Given the description of an element on the screen output the (x, y) to click on. 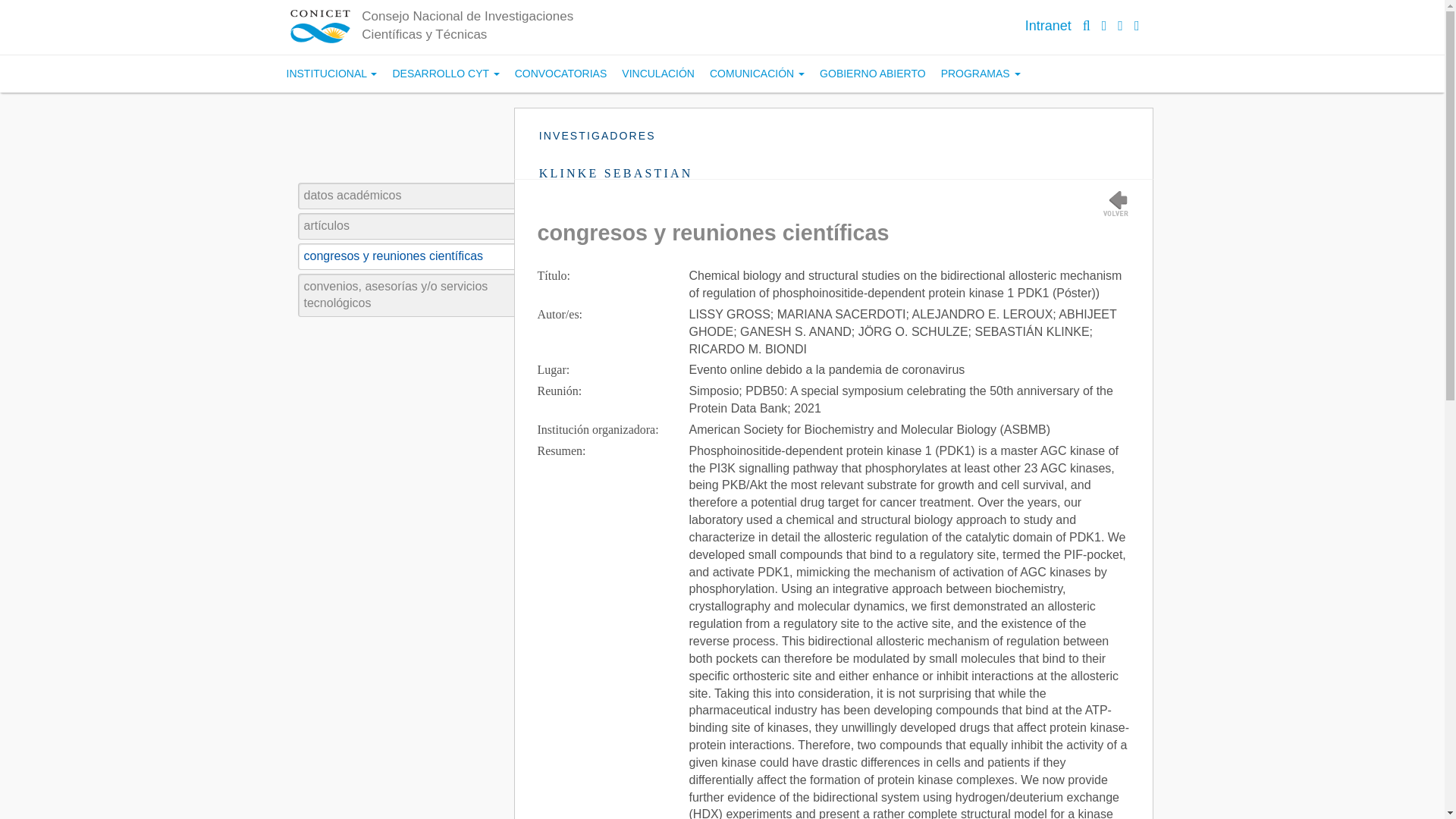
Intranet (1048, 25)
CONVOCATORIAS (560, 73)
INSTITUCIONAL (332, 73)
GOBIERNO ABIERTO (872, 73)
PROGRAMAS (980, 73)
DESARROLLO CYT (445, 73)
